Given the description of an element on the screen output the (x, y) to click on. 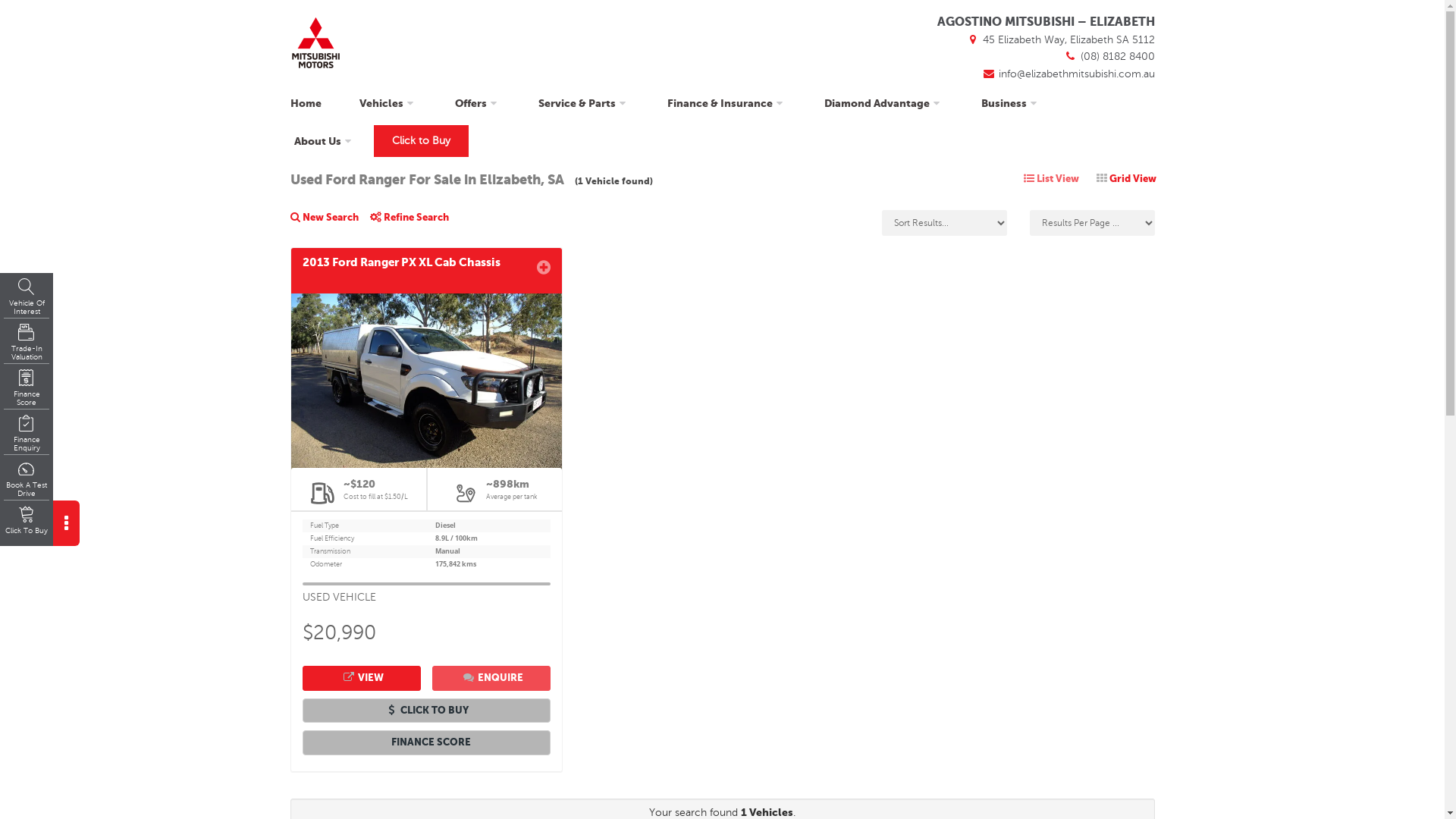
CLICK TO BUY Element type: text (425, 710)
Business Element type: text (1009, 103)
Finance Score Element type: text (26, 388)
Service & Parts Element type: text (582, 103)
Finance Enquiry Element type: text (26, 433)
info@elizabethmitsubishi.com.au Element type: text (1067, 73)
FINANCE SCORE Element type: text (425, 742)
Grid View Element type: text (1126, 179)
New Search Element type: text (329, 223)
Vehicle Of Interest Element type: text (26, 297)
ENQUIRE Element type: text (491, 677)
Trade-In Valuation Element type: text (26, 342)
2013 Ford Ranger PX XL Cab Chassis Element type: text (425, 269)
Book A Test Drive Element type: text (26, 479)
Offers Element type: text (476, 103)
Click to Buy Element type: text (420, 140)
45 Elizabeth Way, Elizabeth SA 5112 Element type: text (1060, 38)
Click To Buy Element type: text (26, 524)
List View Element type: text (1051, 179)
(08) 8182 8400 Element type: text (1108, 56)
About Us Element type: text (323, 141)
Vehicles Element type: text (387, 103)
Refine Search Element type: text (415, 223)
Diamond Advantage Element type: text (883, 103)
Home Element type: text (306, 103)
VIEW Element type: text (360, 677)
Finance & Insurance Element type: text (725, 103)
